Given the description of an element on the screen output the (x, y) to click on. 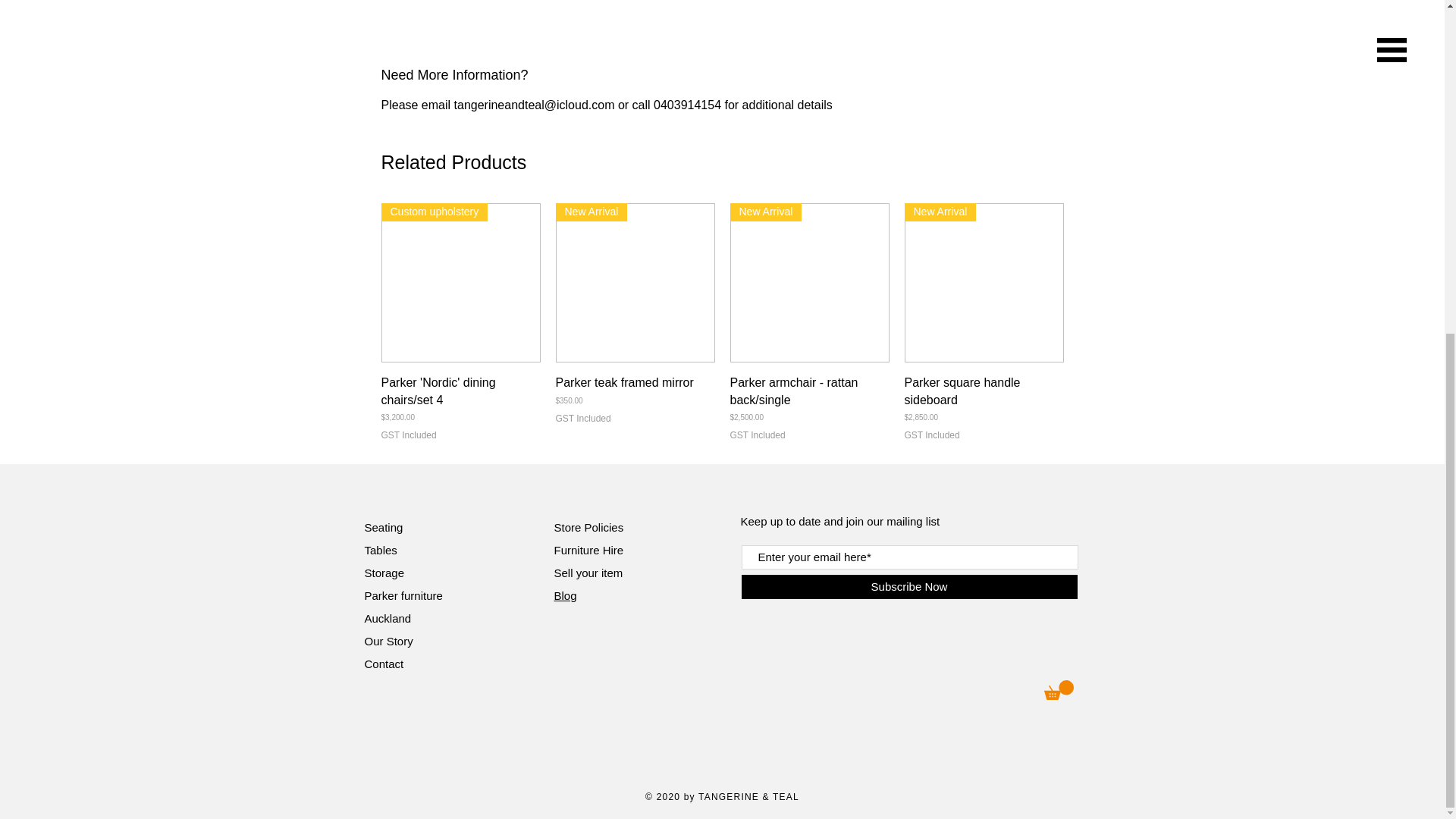
New Arrival (634, 282)
New Arrival (983, 282)
New Arrival (808, 282)
Custom upholstery (460, 282)
